Given the description of an element on the screen output the (x, y) to click on. 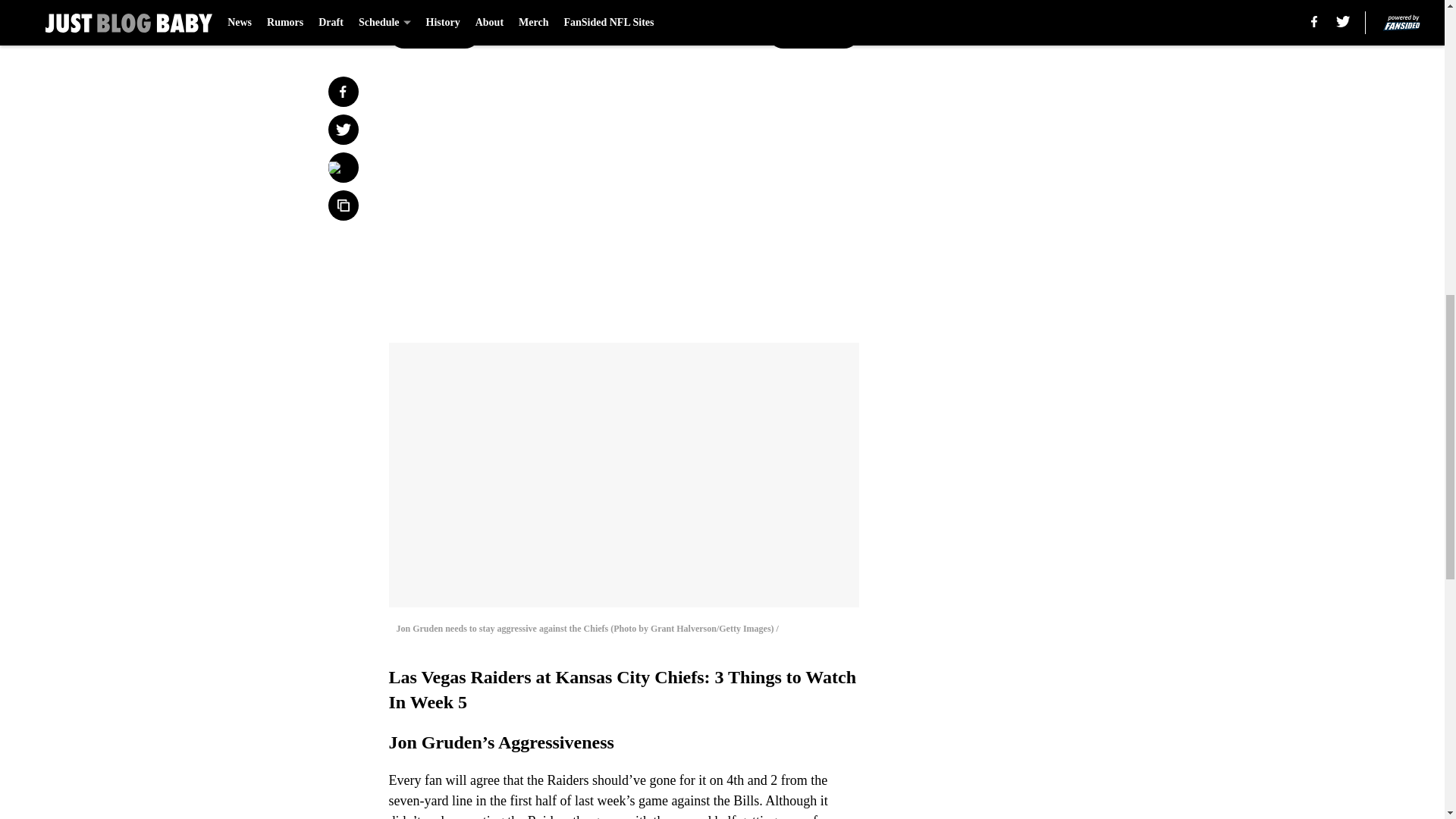
Prev (433, 33)
Next (813, 33)
